Given the description of an element on the screen output the (x, y) to click on. 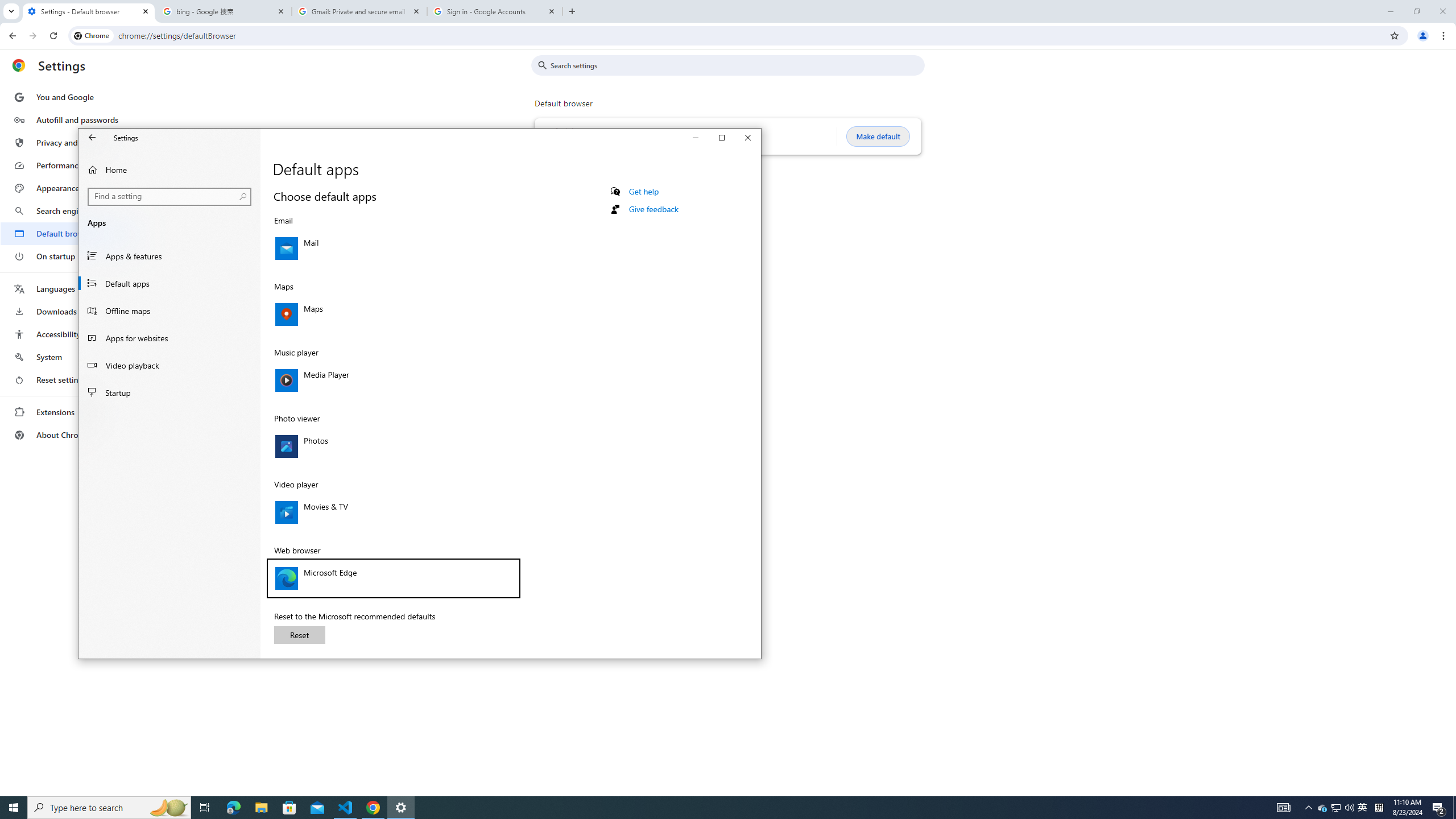
Get help (643, 190)
Apps for websites (169, 337)
Visual Studio Code - 1 running window (345, 807)
Settings - 1 running window (400, 807)
Google Chrome - 1 running window (373, 807)
Minimize Settings (695, 137)
Search box, Find a setting (1335, 807)
Tray Input Indicator - Chinese (Simplified, China) (169, 196)
Show desktop (1378, 807)
